Given the description of an element on the screen output the (x, y) to click on. 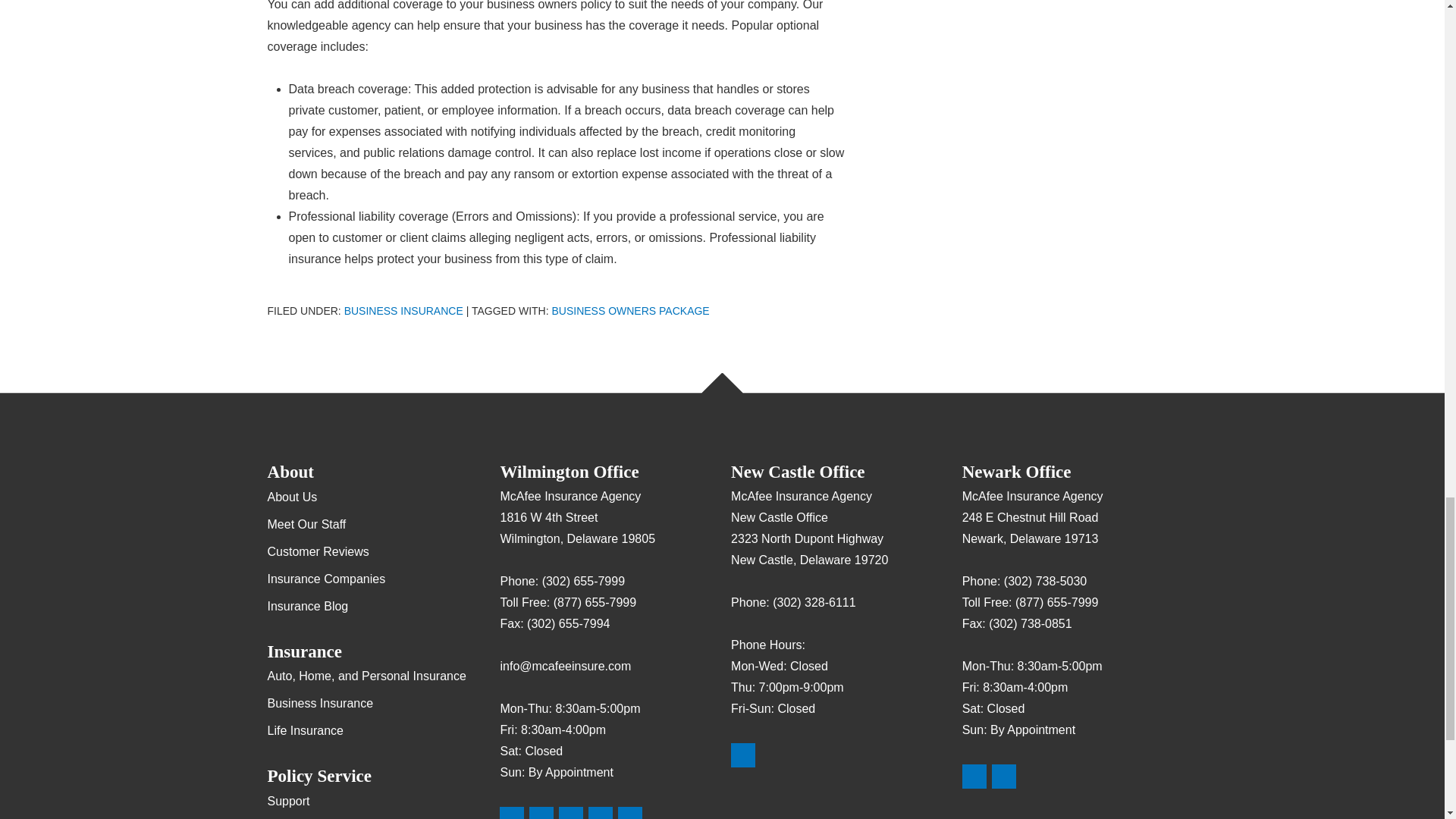
Instagram (629, 812)
Business Insurance (403, 310)
Google Maps (511, 812)
X (600, 812)
Yelp (1003, 776)
Business Owners Package (630, 310)
Facebook (571, 812)
Yelp (541, 812)
Google Maps (742, 754)
Google Maps (974, 776)
